Given the description of an element on the screen output the (x, y) to click on. 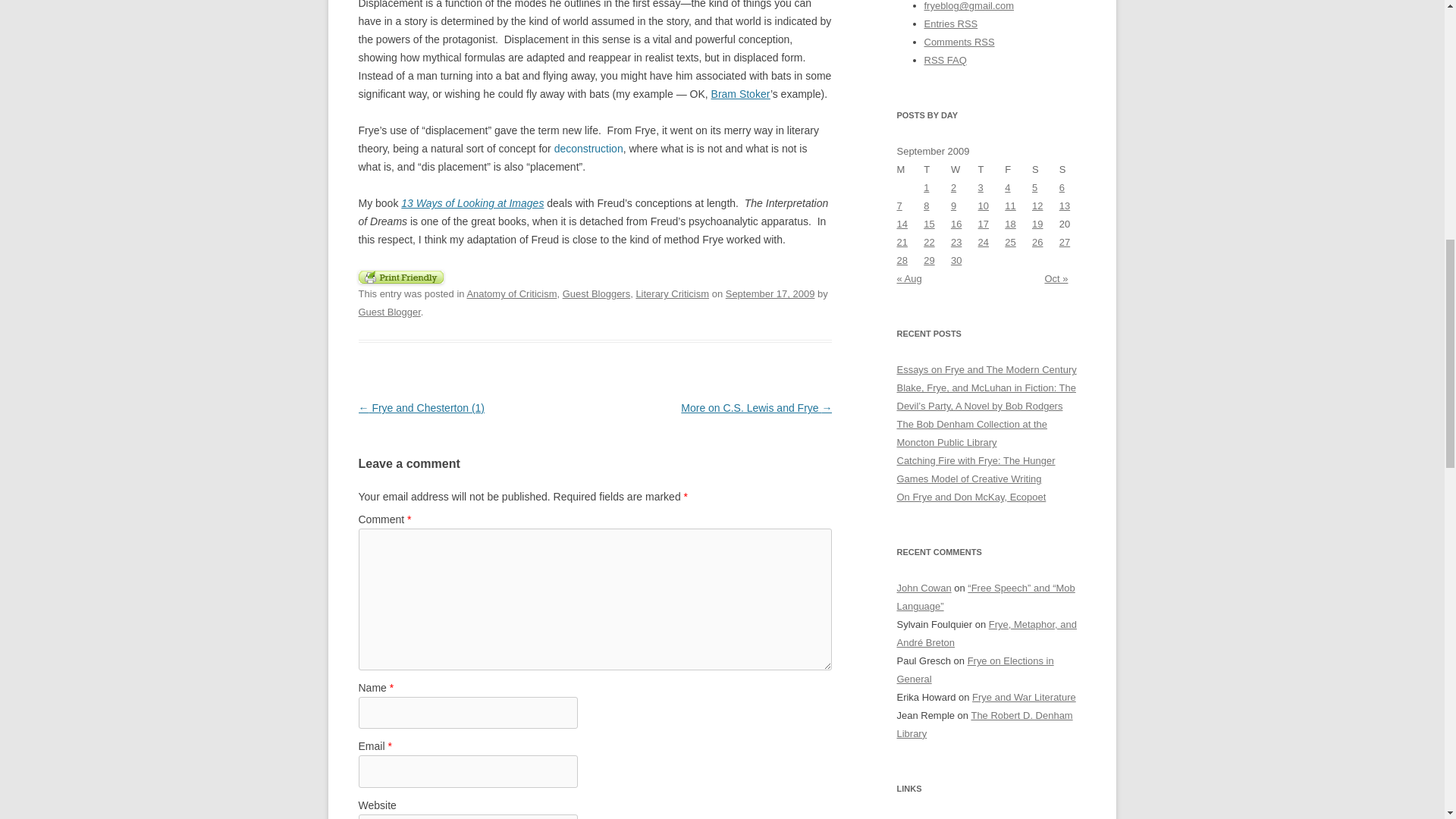
RSS FAQ (944, 60)
Saturday (1045, 169)
Guest Blogger (389, 311)
Tuesday (936, 169)
Comments RSS (958, 41)
September 17, 2009 (770, 293)
13 Ways of Looking at Images (472, 203)
deconstruction (588, 148)
5 (1034, 187)
Monday (909, 169)
Literary Criticism (671, 293)
8 (925, 205)
1 (925, 187)
6 (1061, 187)
3 (981, 187)
